Given the description of an element on the screen output the (x, y) to click on. 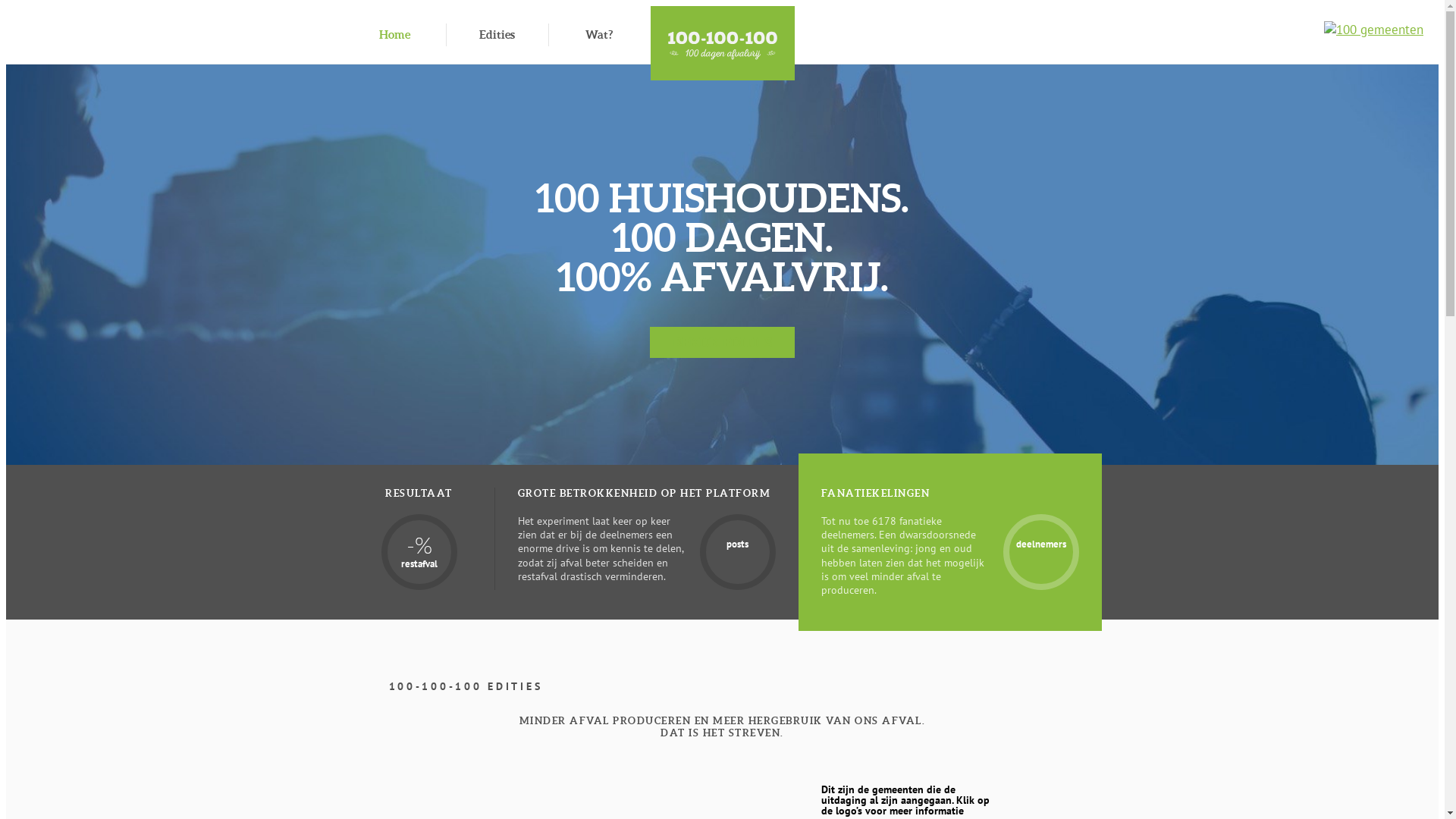
Home Element type: text (394, 34)
BEKIJK EDITIES Element type: text (721, 341)
Wat? Element type: text (598, 34)
Edities Element type: text (496, 34)
